Given the description of an element on the screen output the (x, y) to click on. 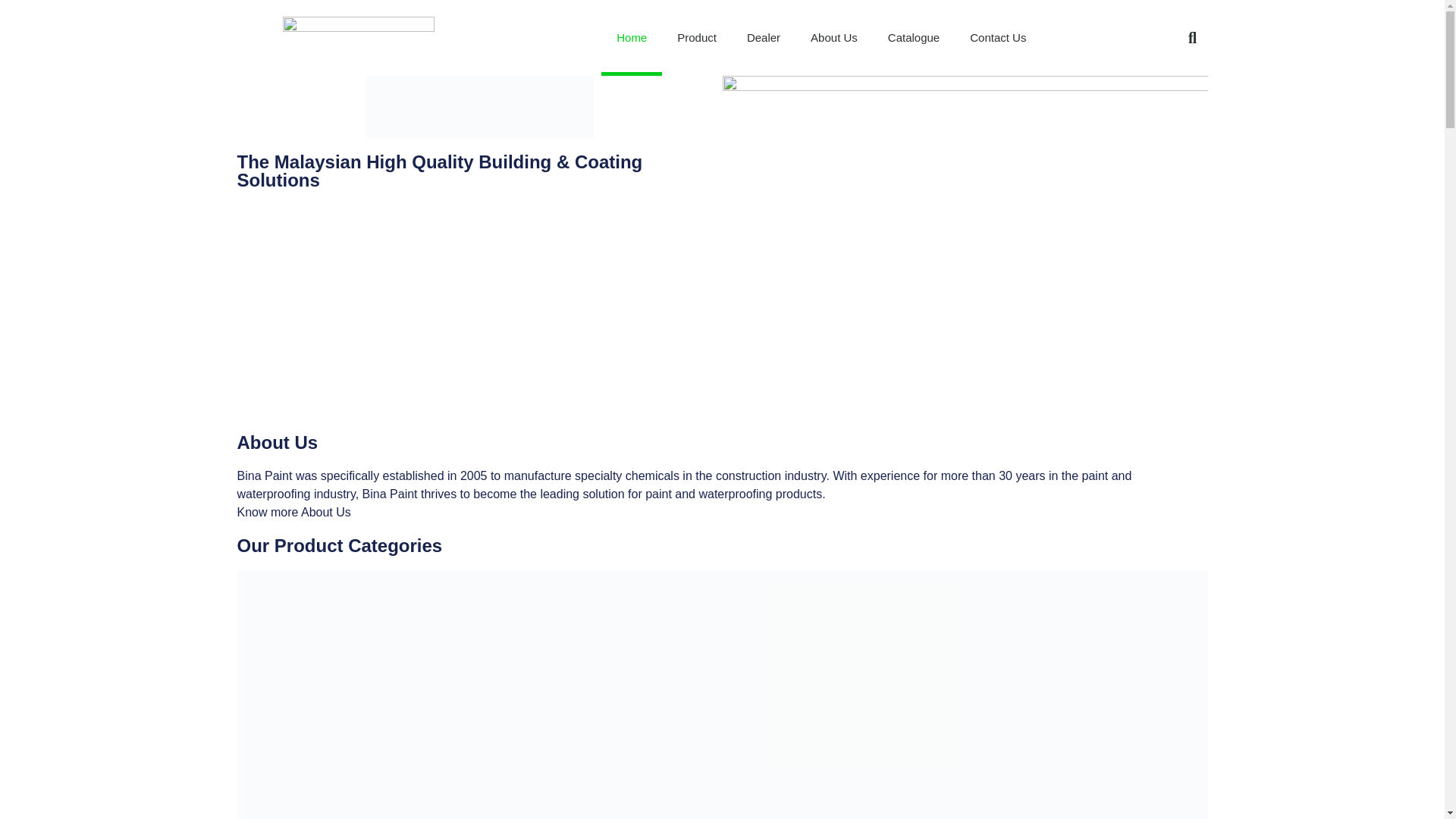
Contact Us (998, 38)
Catalogue (913, 38)
Product (697, 38)
Know more About Us (292, 512)
About Us (833, 38)
